Given the description of an element on the screen output the (x, y) to click on. 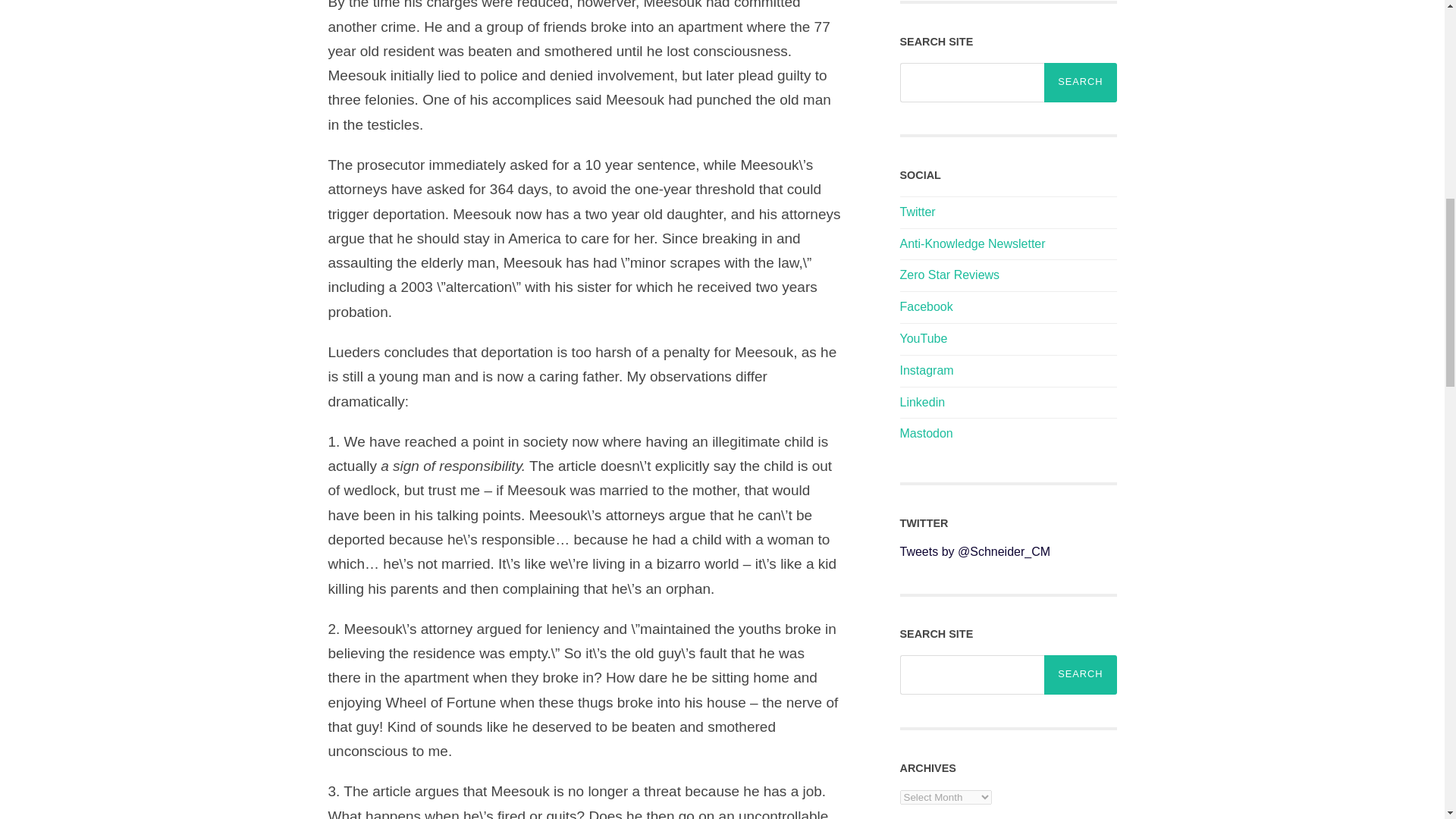
Search (1079, 82)
Zero Star Reviews (948, 274)
Twitter (916, 211)
Search (1079, 674)
Anti-Knowledge Newsletter (972, 243)
YouTube (923, 338)
Facebook (925, 306)
Search (1079, 82)
